Given the description of an element on the screen output the (x, y) to click on. 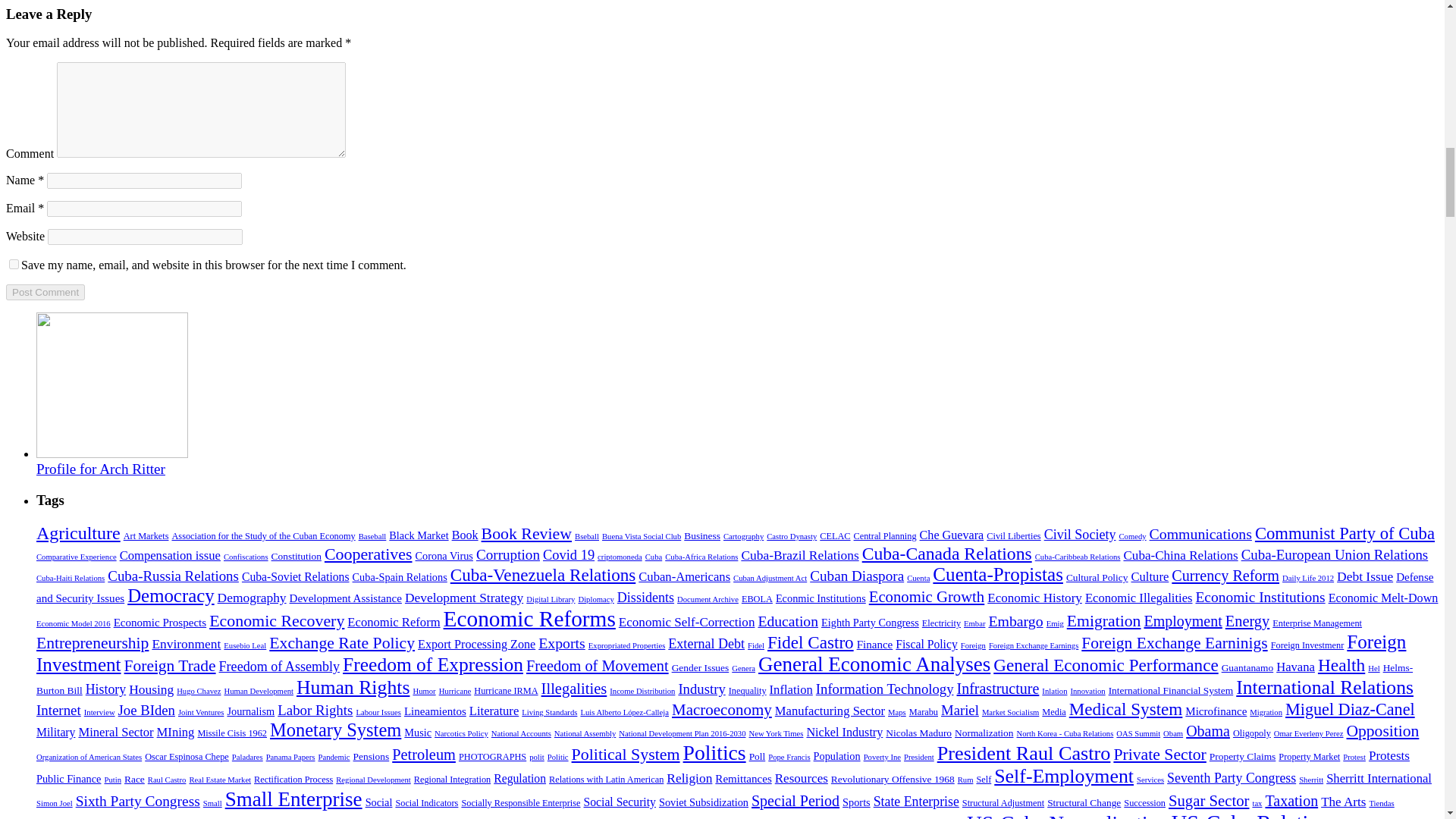
Book Review (526, 533)
CELAC (834, 535)
Castro Dynasty (791, 536)
Agriculture (78, 532)
Central Planning (885, 535)
Profile for Arch Ritter (100, 468)
Cartography (742, 536)
Buena Vista Social Club (641, 536)
Black Market (418, 535)
Business (702, 535)
Book (465, 534)
Post Comment (44, 292)
Association for the Study of the Cuban Economy (263, 535)
Bseball (586, 536)
Baseball (372, 536)
